Given the description of an element on the screen output the (x, y) to click on. 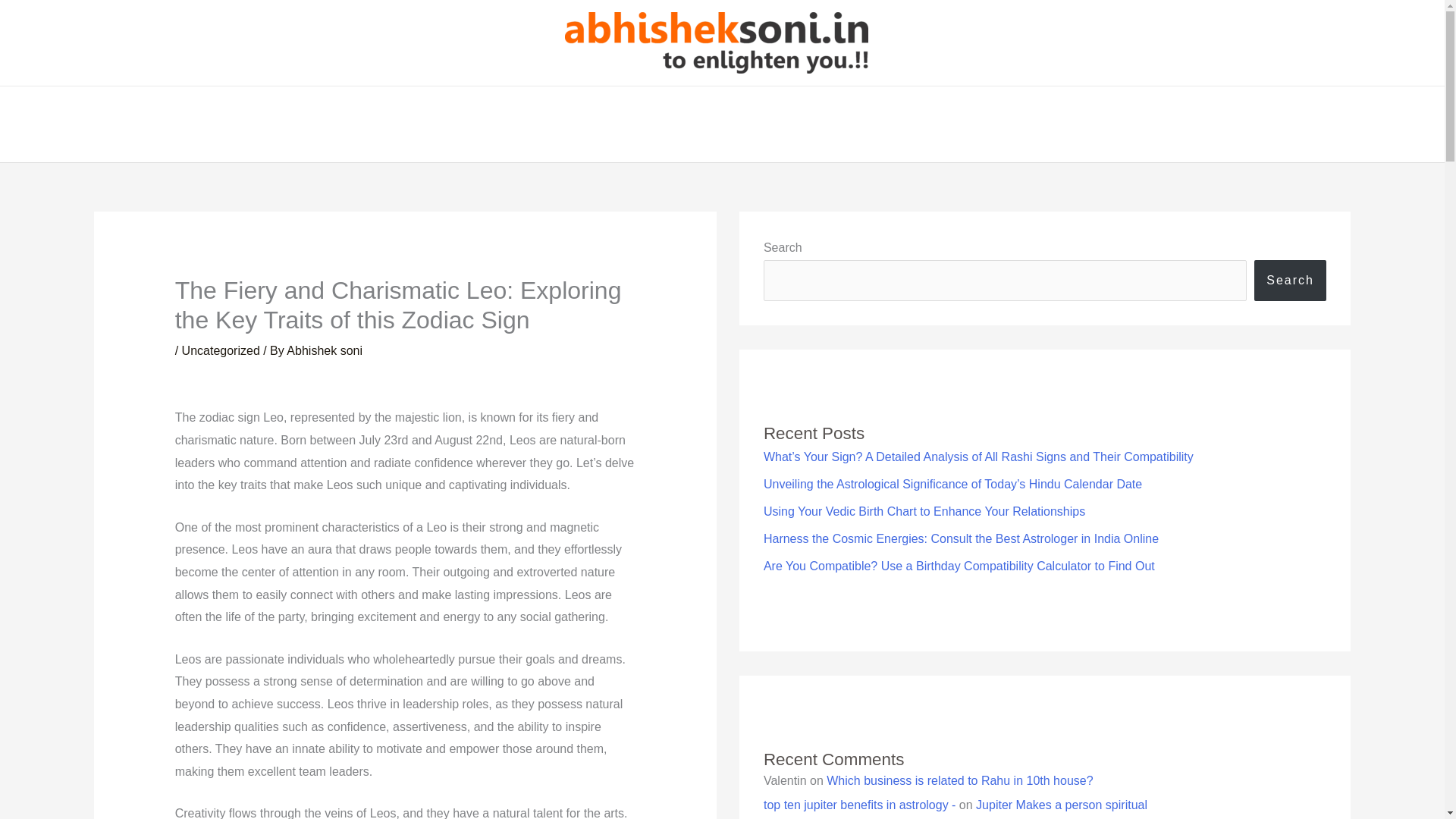
Using Your Vedic Birth Chart to Enhance Your Relationships (923, 511)
top ten jupiter benefits in astrology - (858, 804)
Jupiter Makes a person spiritual (1061, 804)
Abhishek soni (324, 350)
Search (1289, 280)
View all posts by Abhishek soni (324, 350)
CONTACT US (940, 124)
Uncategorized (221, 350)
BOOK APPOINTMENT  (812, 124)
Which business is related to Rahu in 10th house? (960, 780)
ABOUT US (555, 124)
Pages (637, 124)
